Given the description of an element on the screen output the (x, y) to click on. 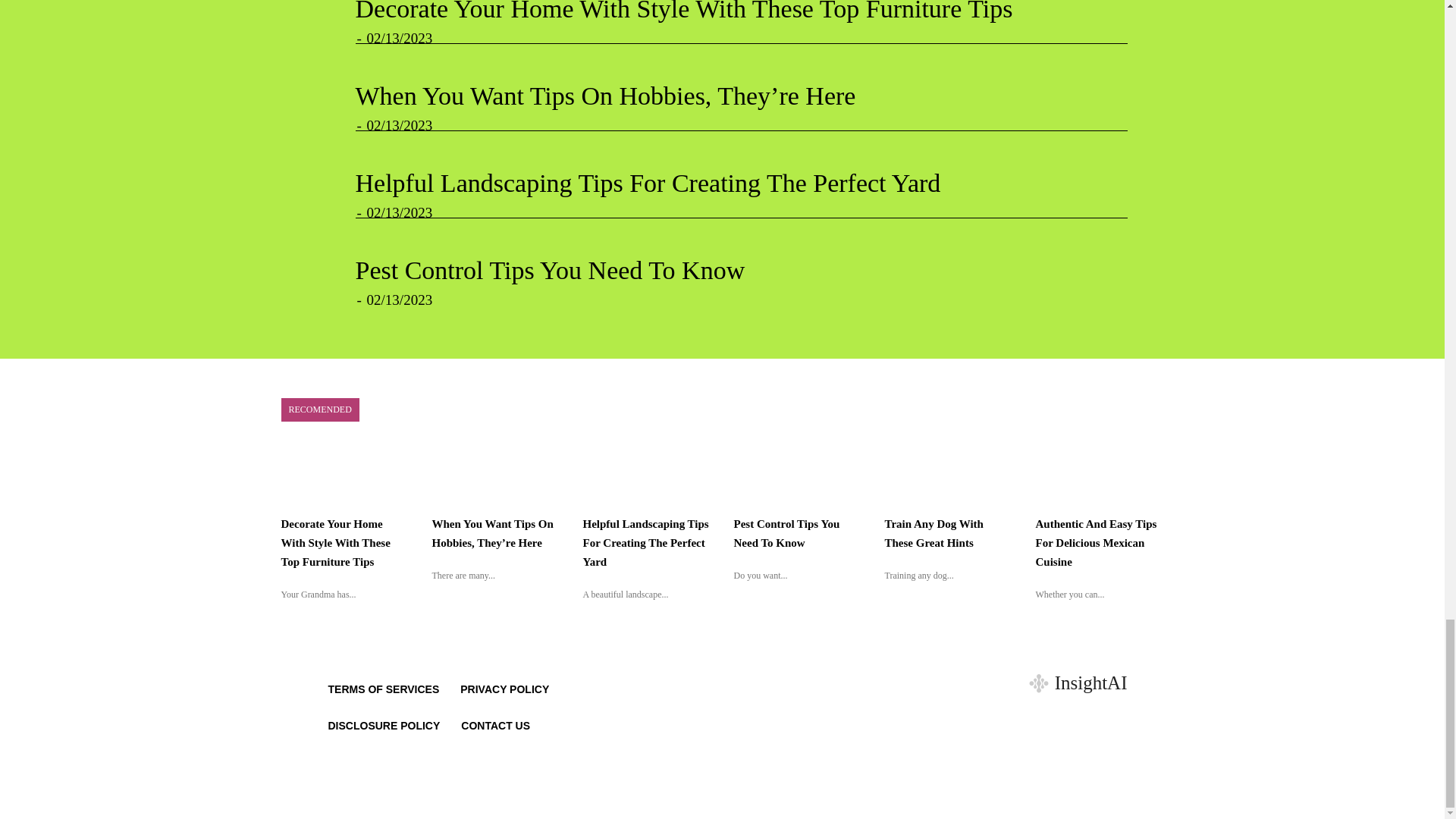
Decorate Your Home With Style With These Top Furniture Tips (335, 542)
Helpful Landscaping Tips For Creating The Perfect Yard (647, 182)
Decorate Your Home With Style With These Top Furniture Tips (683, 11)
Pest Control Tips You Need To Know (549, 270)
Decorate Your Home With Style With These Top Furniture Tips (683, 11)
Helpful Landscaping Tips For Creating The Perfect Yard (647, 182)
